Given the description of an element on the screen output the (x, y) to click on. 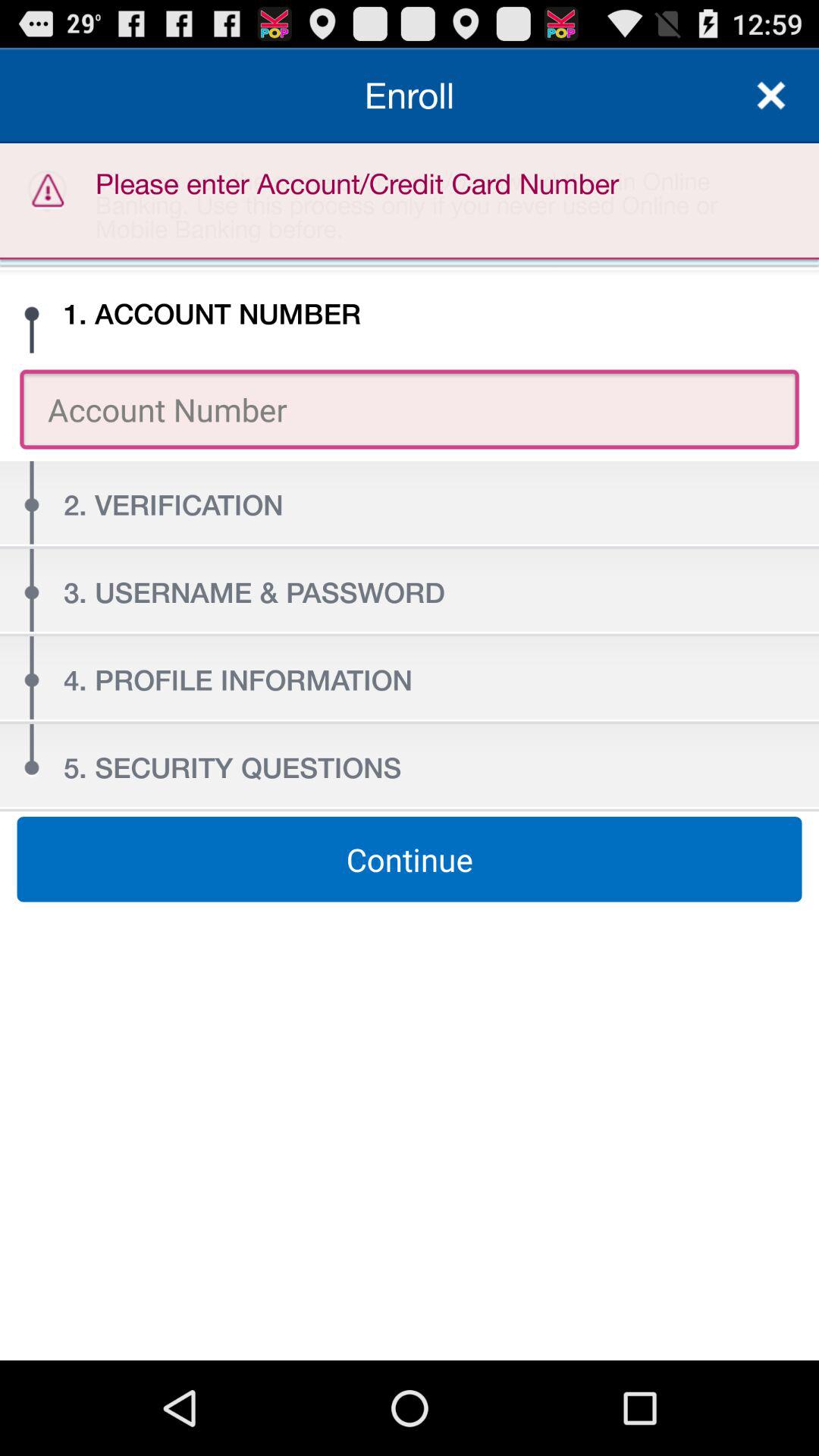
press the item to the right of the please enter account (771, 95)
